Given the description of an element on the screen output the (x, y) to click on. 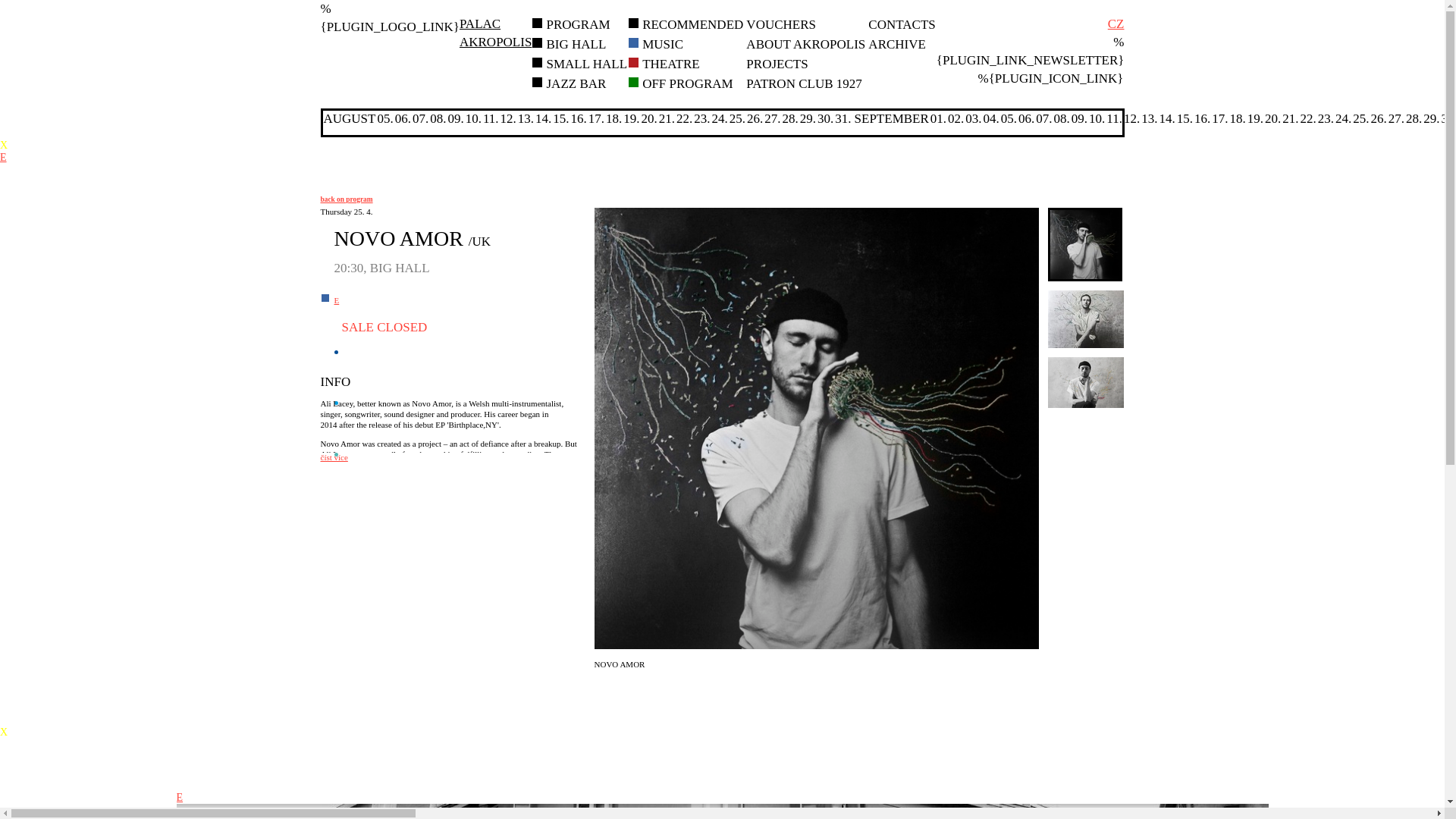
PROJECTS (776, 63)
PROGRAM (578, 24)
CZ (1116, 23)
JAZZ BAR (575, 83)
ABOUT AKROPOLIS (804, 43)
BIG HALL (495, 32)
VOUCHERS (575, 43)
RECOMMENDED (780, 24)
SMALL HALL (692, 24)
THEATRE (586, 63)
MUSIC (671, 63)
ARCHIVE (662, 43)
PATRON CLUB 1927 (896, 43)
CONTACTS (803, 83)
